Given the description of an element on the screen output the (x, y) to click on. 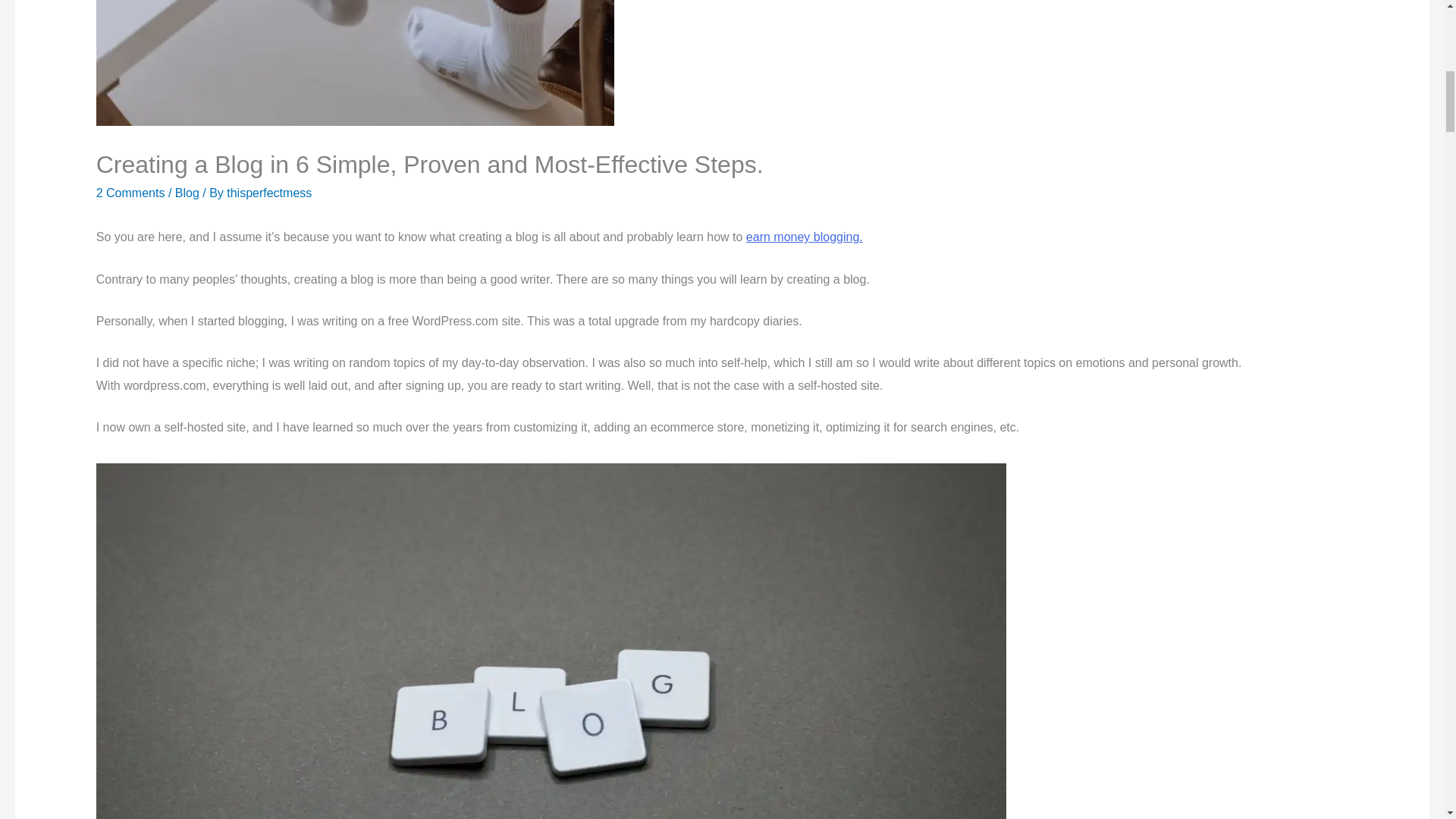
View all posts by thisperfectmess (269, 192)
2 Comments (130, 192)
Blog (186, 192)
thisperfectmess (269, 192)
earn money blogging. (804, 236)
